Given the description of an element on the screen output the (x, y) to click on. 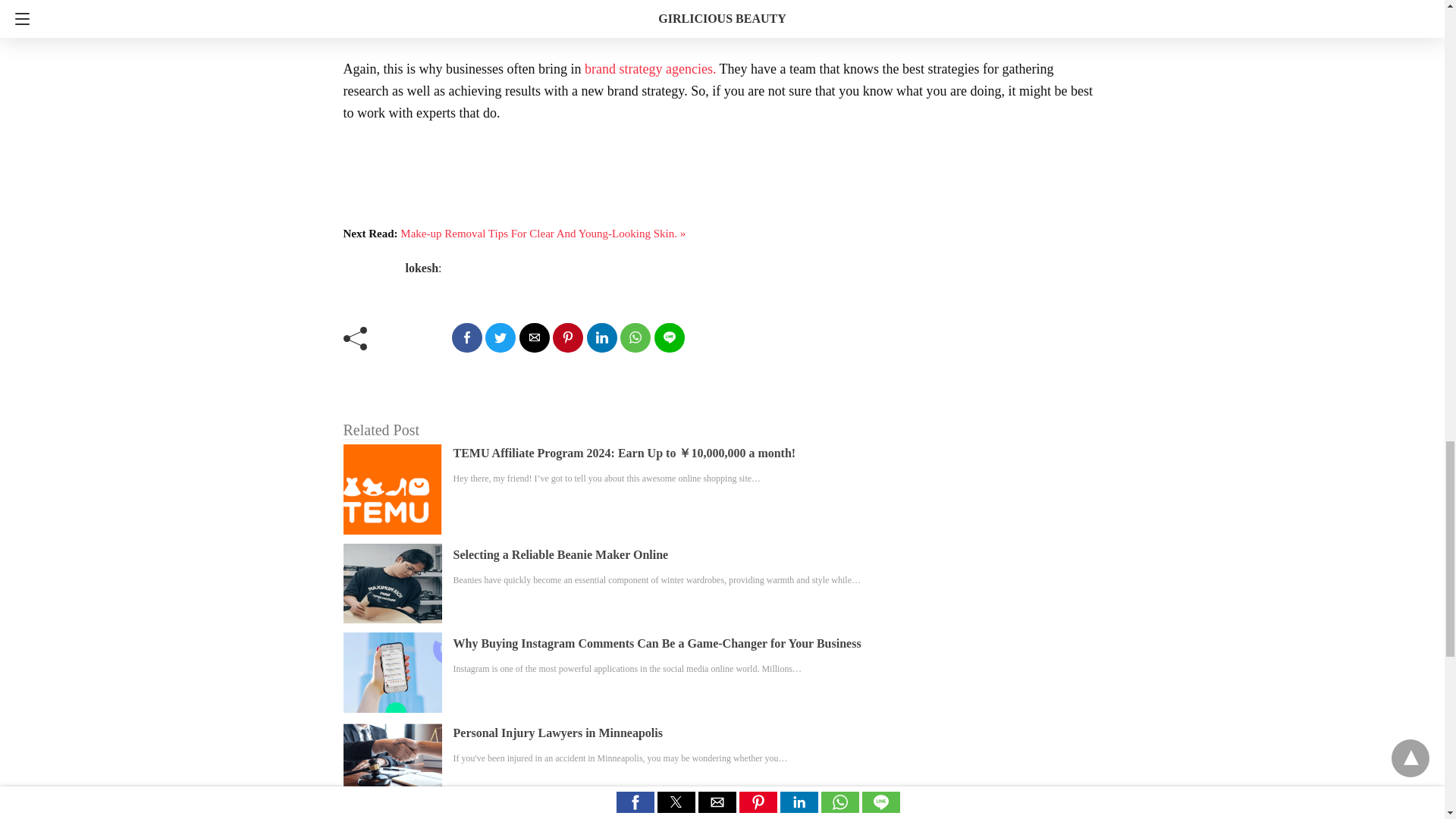
mailto (533, 337)
Personal Injury Lawyers in Minneapolis (557, 732)
twitter share (499, 337)
line share (668, 337)
brand strategy agencies. (650, 68)
Selecting Reliable Beanie Maker Online (560, 553)
Selecting a Reliable Beanie Maker Online (560, 553)
AddThis Website Tools (577, 196)
Personal Injury Lawyers in Minneapolis (557, 732)
